Given the description of an element on the screen output the (x, y) to click on. 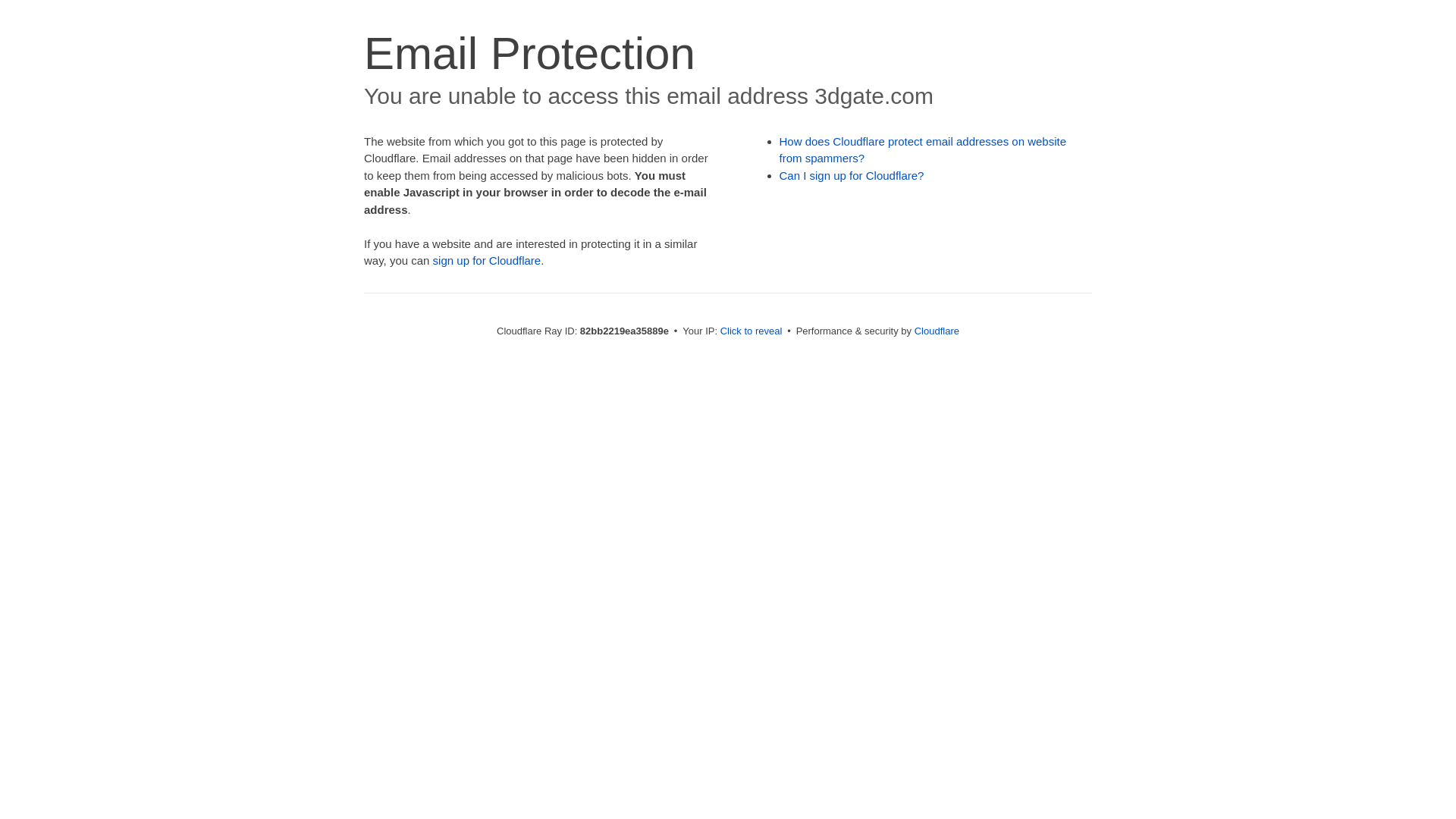
Cloudflare Element type: text (936, 330)
Click to reveal Element type: text (751, 330)
sign up for Cloudflare Element type: text (487, 260)
Can I sign up for Cloudflare? Element type: text (851, 175)
